Given the description of an element on the screen output the (x, y) to click on. 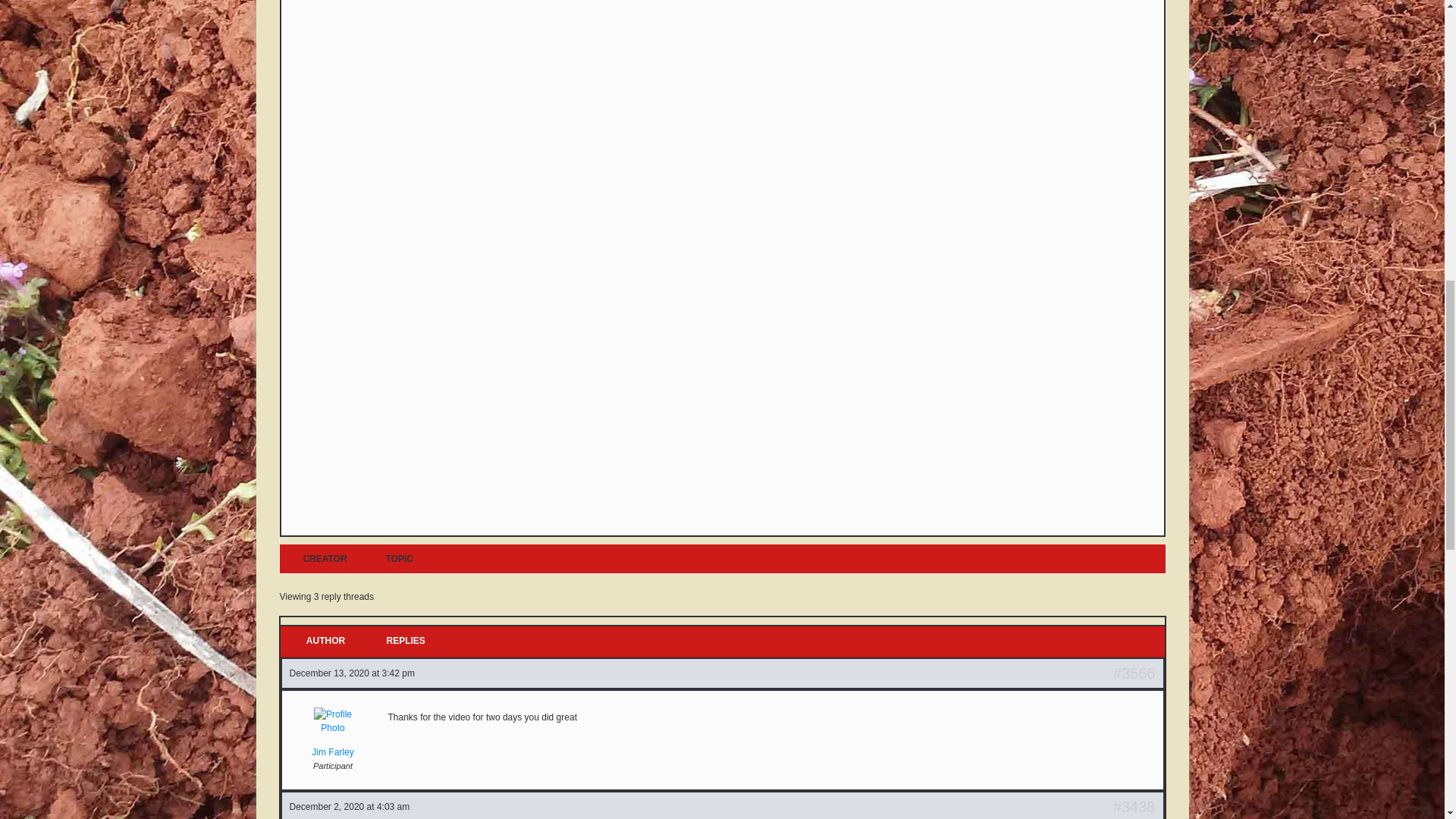
View Jim Farley's profile (333, 733)
Jim Farley (333, 733)
